Given the description of an element on the screen output the (x, y) to click on. 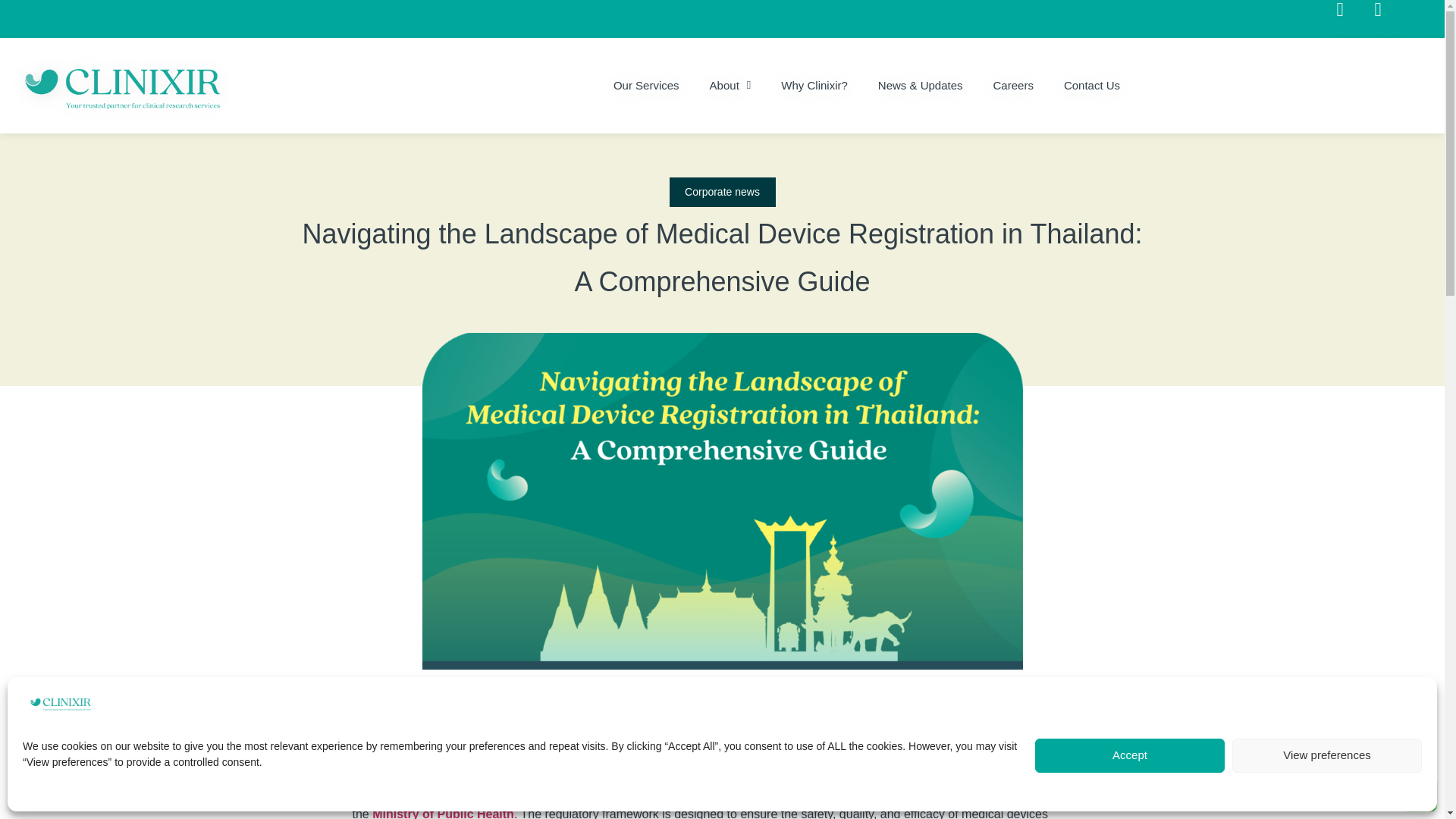
Careers (1013, 85)
View preferences (1326, 755)
Contact Us (1091, 85)
Accept (1129, 755)
Our Services (646, 85)
Why Clinixir? (814, 85)
About (730, 85)
